Given the description of an element on the screen output the (x, y) to click on. 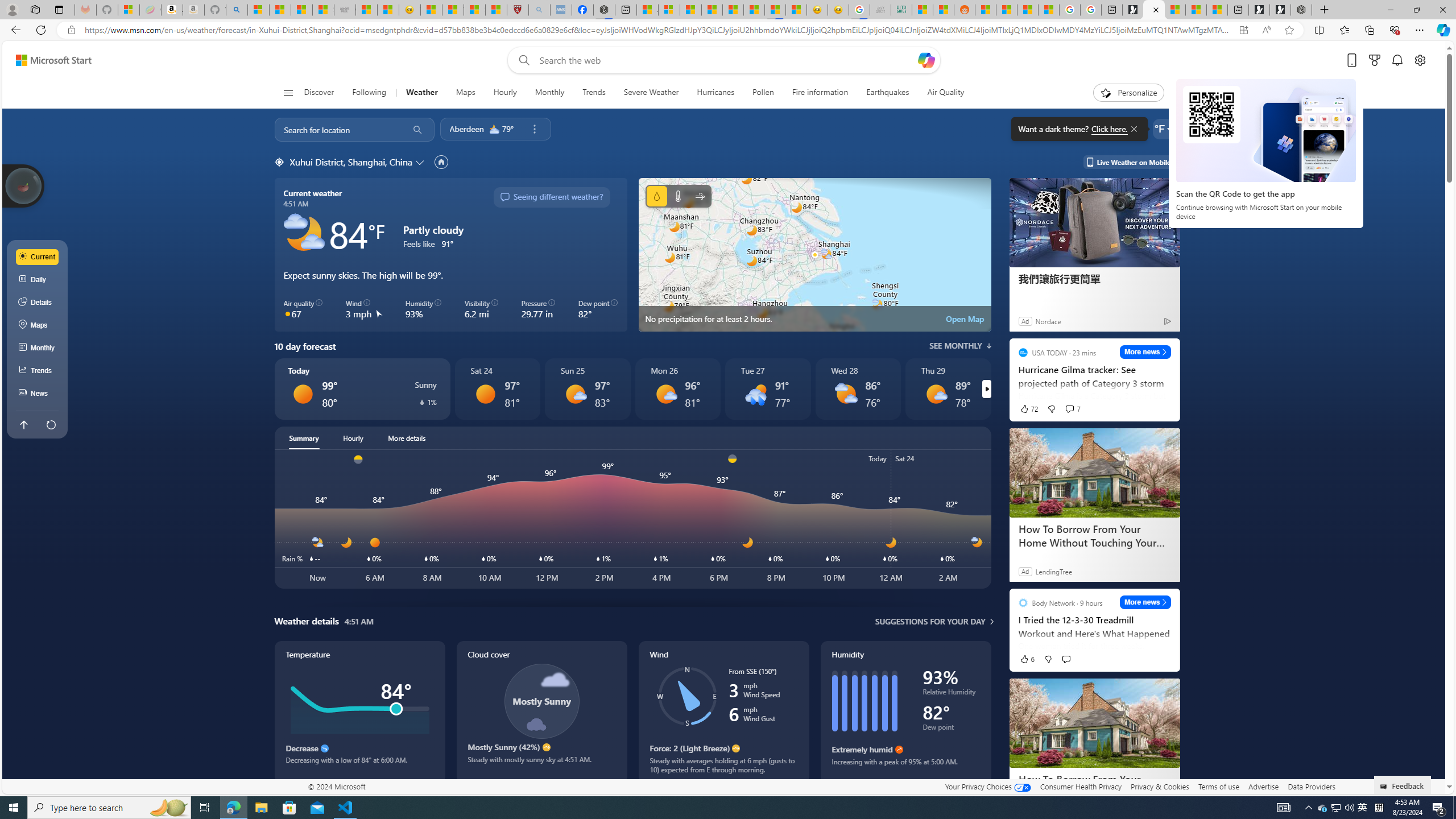
Monthly (549, 92)
Air Quality (940, 92)
Set as primary location (440, 161)
Refresh this page (50, 424)
Partly sunny (845, 393)
More details (406, 437)
Fire information (820, 92)
Increasing with a peak of 95% at 5:00 AM. (905, 765)
Maps (465, 92)
